Given the description of an element on the screen output the (x, y) to click on. 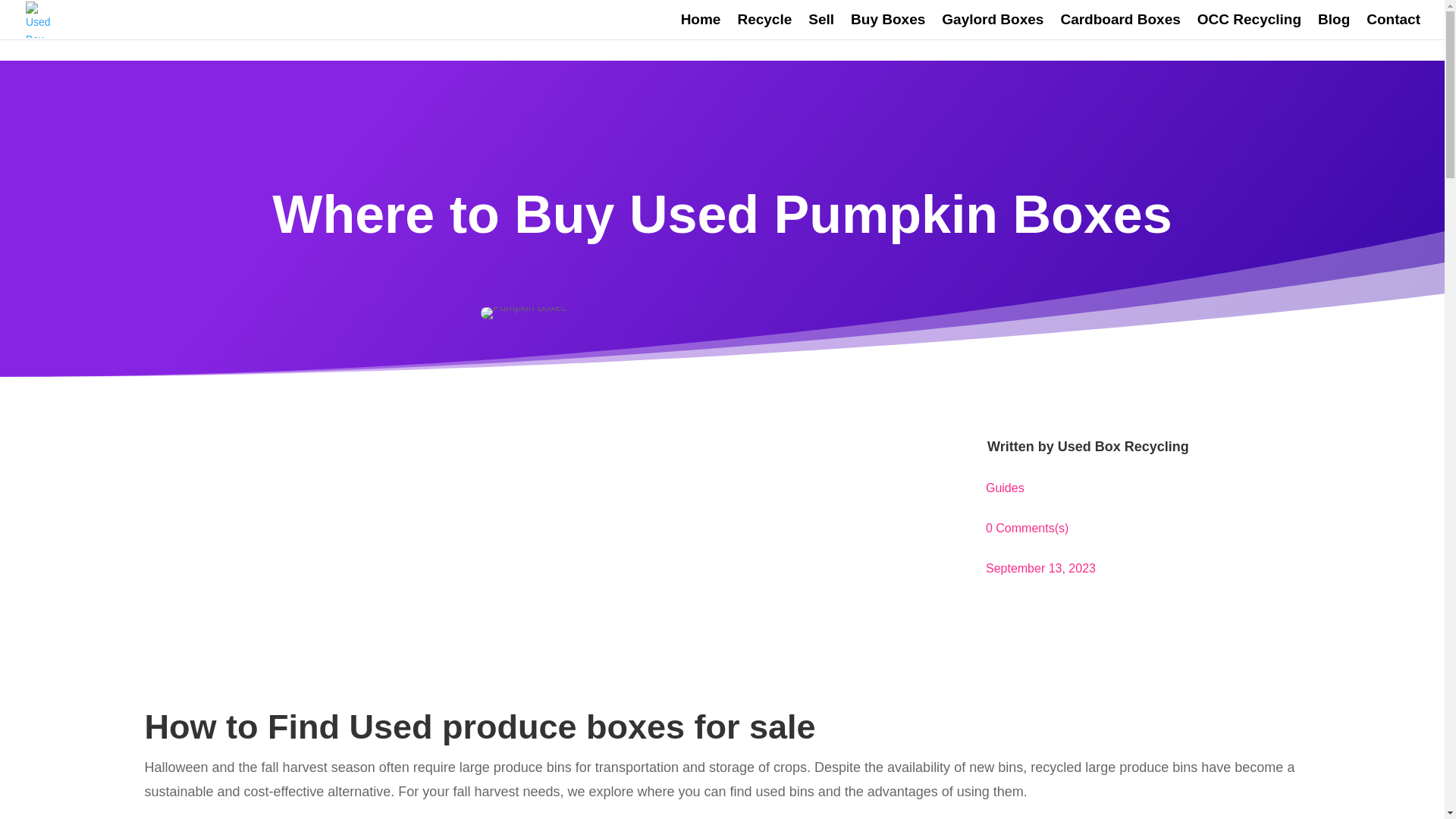
OCC Recycling (1248, 26)
Contact (1394, 26)
Buy Boxes (887, 26)
Used Box Recycling (1123, 446)
Guides (1005, 487)
Gaylord Boxes (992, 26)
Recycle (764, 26)
Home (700, 26)
Sell (821, 26)
Cardboard Boxes (1119, 26)
Blog (1333, 26)
